Given the description of an element on the screen output the (x, y) to click on. 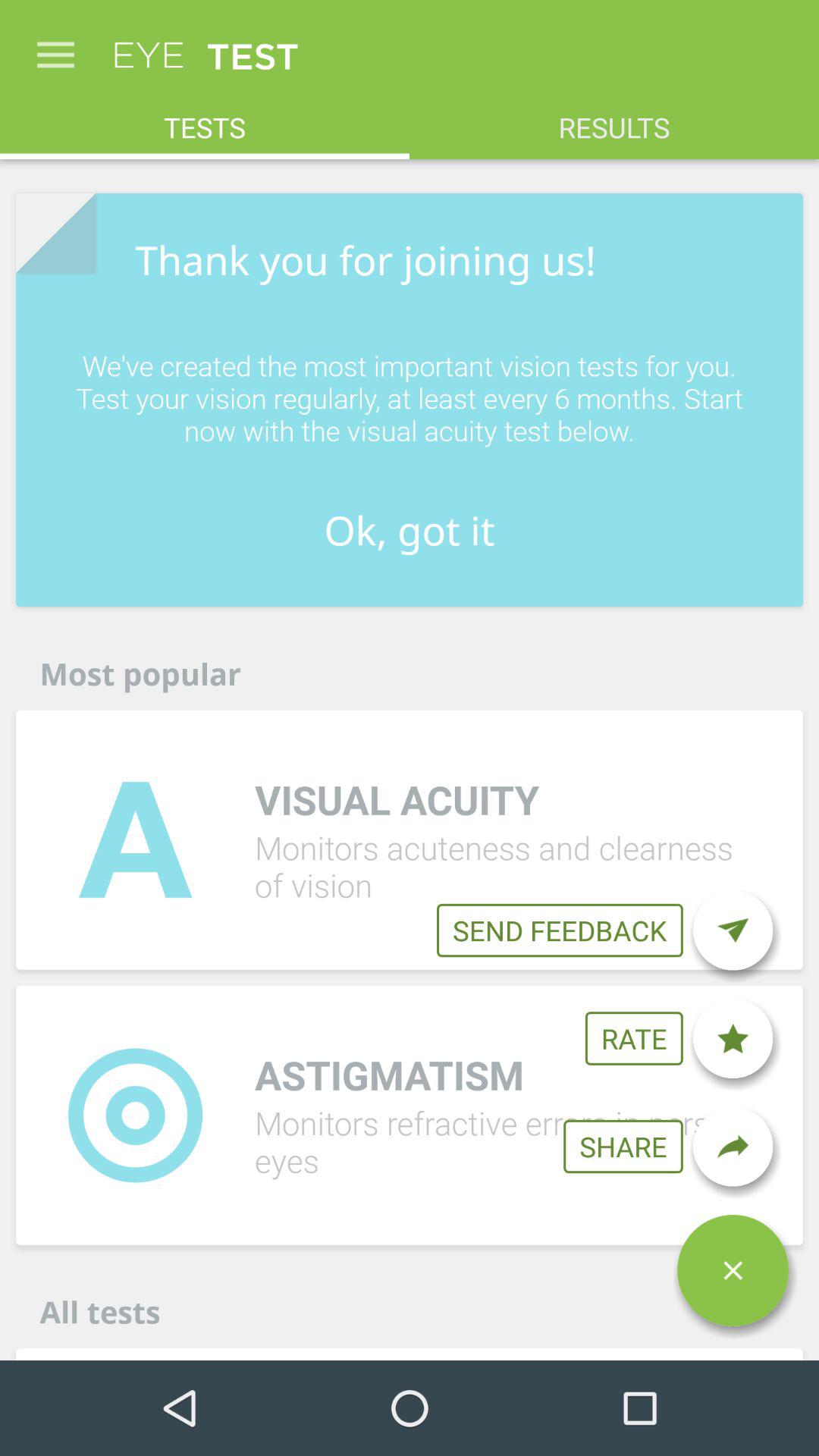
launch icon below we ve created (409, 529)
